Given the description of an element on the screen output the (x, y) to click on. 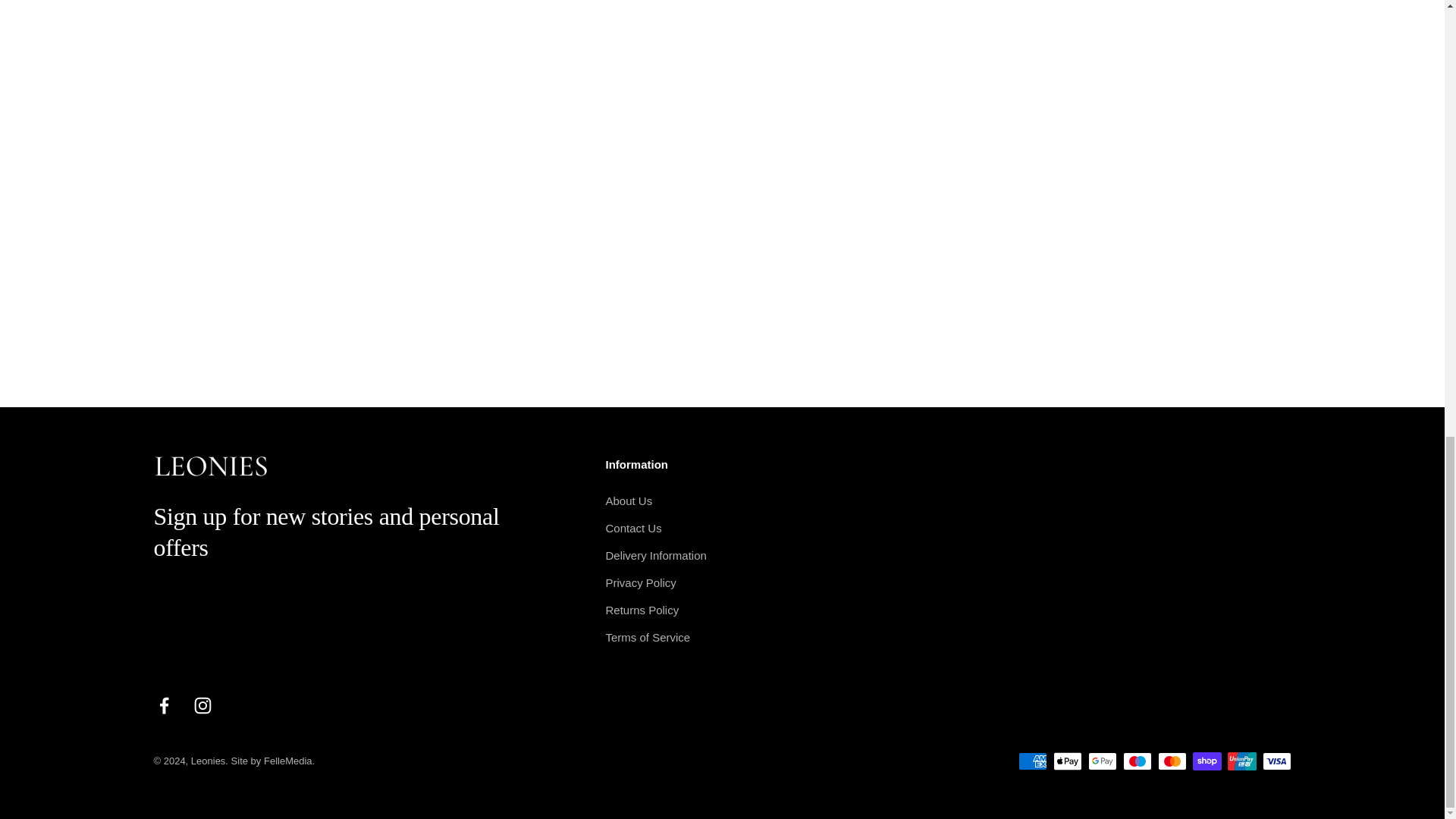
FelleMedia: Shopify E-commerce Solutions (273, 760)
